Given the description of an element on the screen output the (x, y) to click on. 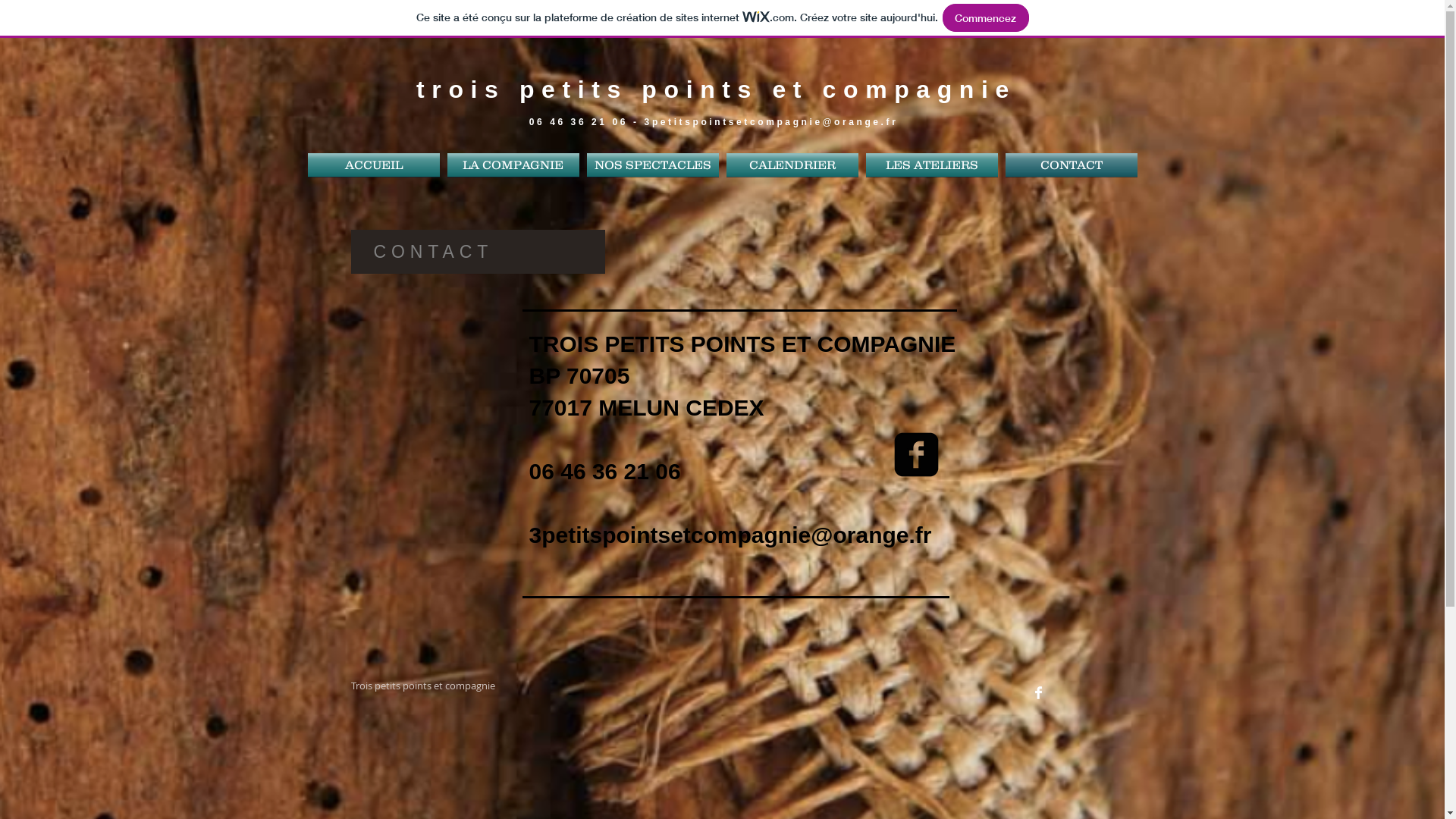
3petitspointsetcompagnie@orange.fr Element type: text (771, 121)
NOS SPECTACLES Element type: text (652, 164)
ACCUEIL Element type: text (373, 164)
3petitspointsetcompagnie@orange.fr Element type: text (730, 534)
CALENDRIER Element type: text (792, 164)
trois petits points et compagnie Element type: text (716, 89)
LES ATELIERS Element type: text (931, 164)
CONTACT Element type: text (1071, 164)
LA COMPAGNIE Element type: text (513, 164)
